Given the description of an element on the screen output the (x, y) to click on. 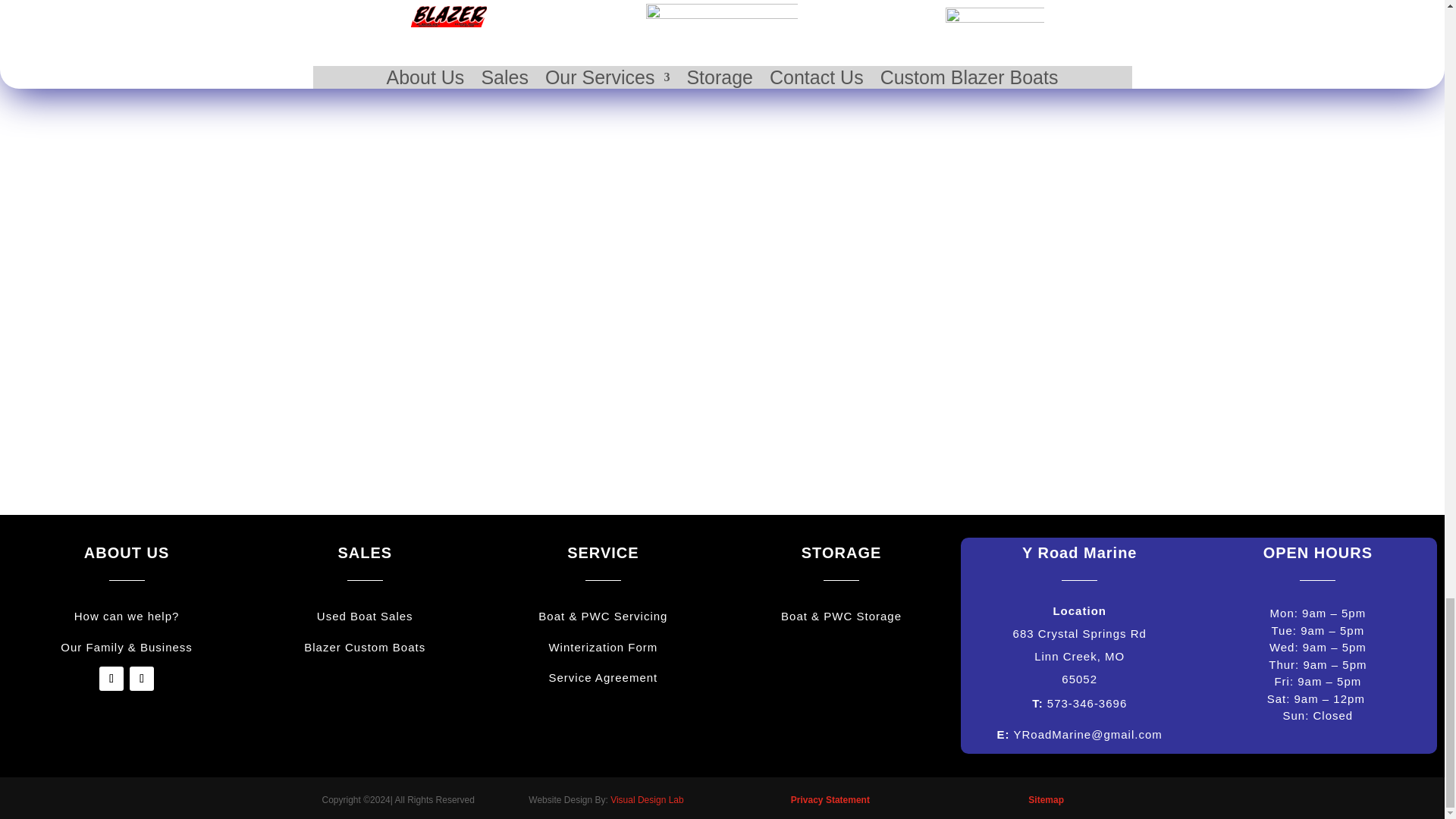
Follow on Youtube (141, 678)
Privacy Statement (829, 799)
Follow on Facebook (111, 678)
Sitemap (1045, 799)
Visual Design Lab (647, 799)
